Given the description of an element on the screen output the (x, y) to click on. 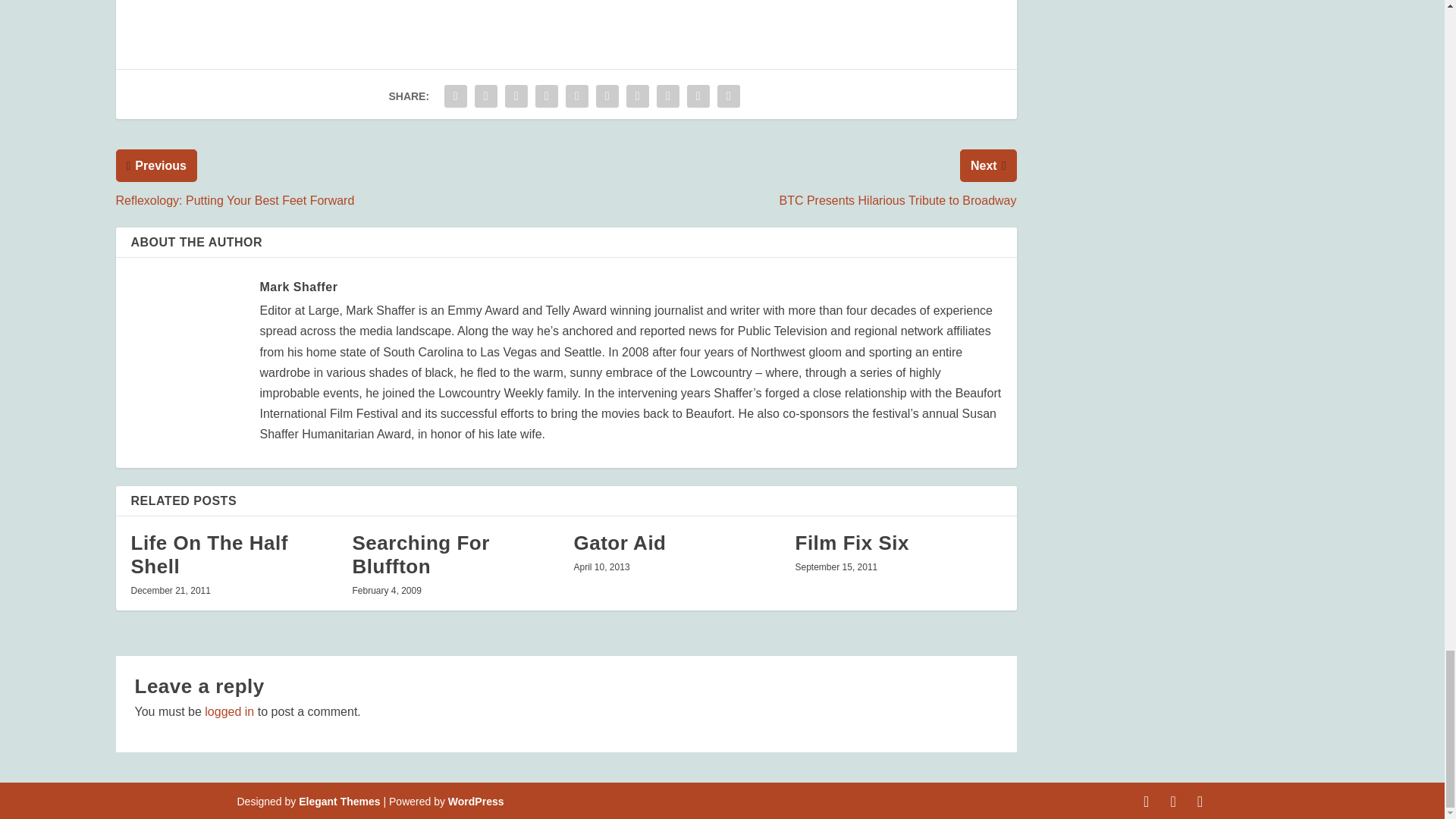
Share "The Holy City Bucket List" via Stumbleupon (667, 96)
Share "The Holy City Bucket List" via Facebook (455, 96)
Share "The Holy City Bucket List" via Twitter (485, 96)
Share "The Holy City Bucket List" via Print (728, 96)
Share "The Holy City Bucket List" via Tumblr (546, 96)
Share "The Holy City Bucket List" via LinkedIn (607, 96)
Share "The Holy City Bucket List" via Buffer (637, 96)
Share "The Holy City Bucket List" via Email (697, 96)
Share "The Holy City Bucket List" via Pinterest (577, 96)
